Given the description of an element on the screen output the (x, y) to click on. 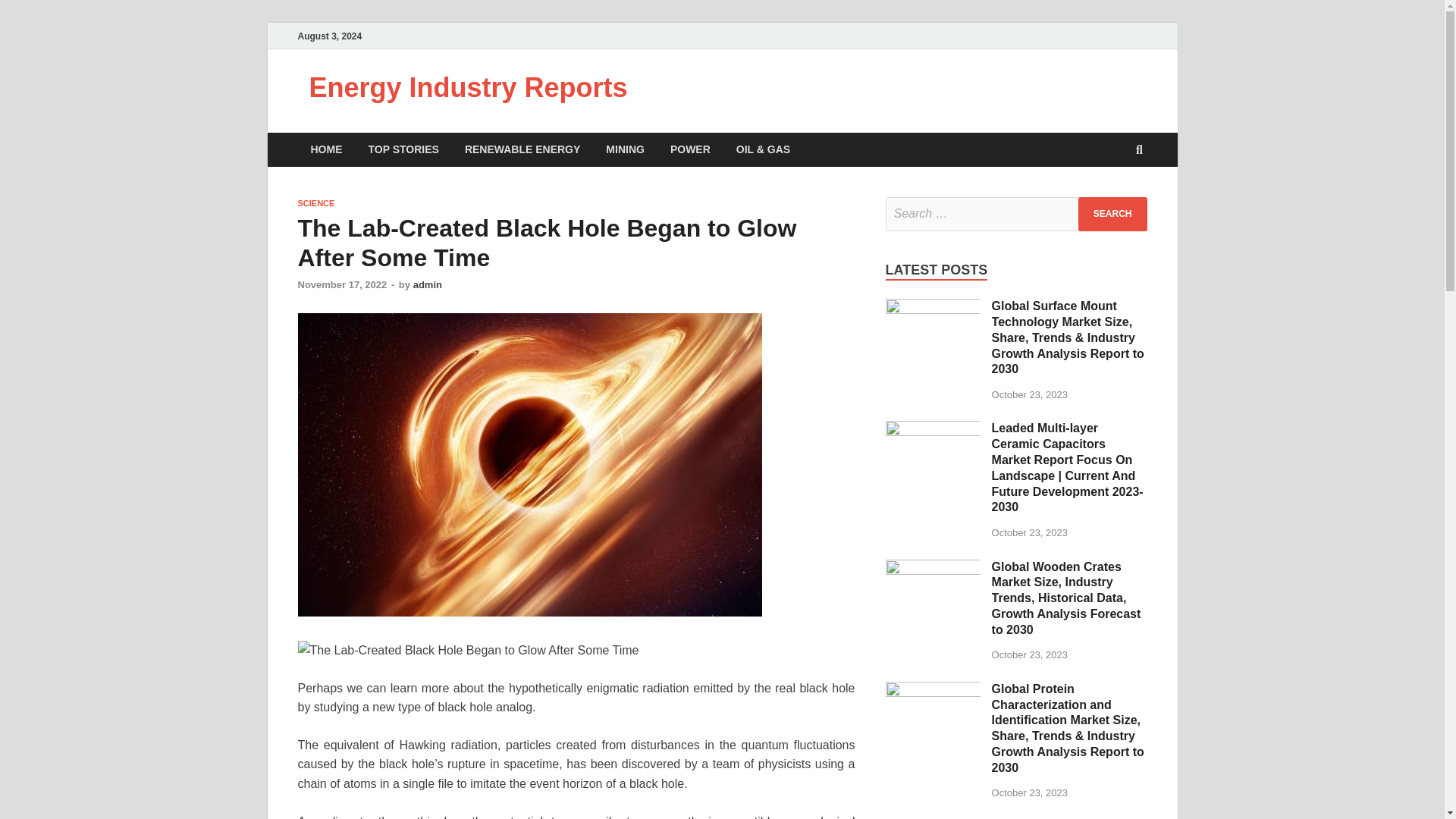
HOME (326, 149)
November 17, 2022 (342, 284)
MINING (625, 149)
TOP STORIES (403, 149)
Search (1112, 213)
Energy Industry Reports (467, 87)
Search (1112, 213)
RENEWABLE ENERGY (521, 149)
The Lab-Created Black Hole Began to Glow After Some Time (468, 650)
